Given the description of an element on the screen output the (x, y) to click on. 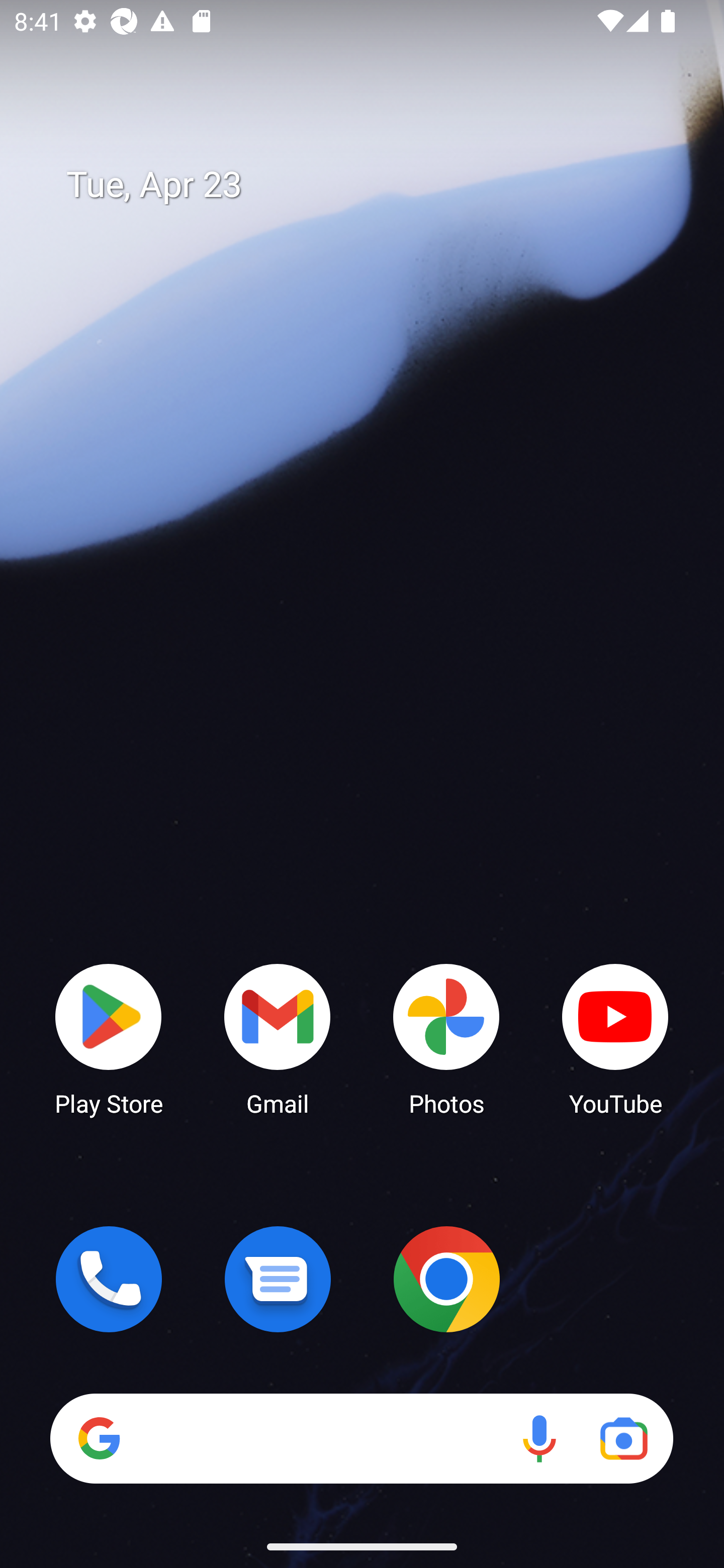
Tue, Apr 23 (375, 184)
Play Store (108, 1038)
Gmail (277, 1038)
Photos (445, 1038)
YouTube (615, 1038)
Phone (108, 1279)
Messages (277, 1279)
Chrome (446, 1279)
Search Voice search Google Lens (361, 1438)
Voice search (539, 1438)
Google Lens (623, 1438)
